Given the description of an element on the screen output the (x, y) to click on. 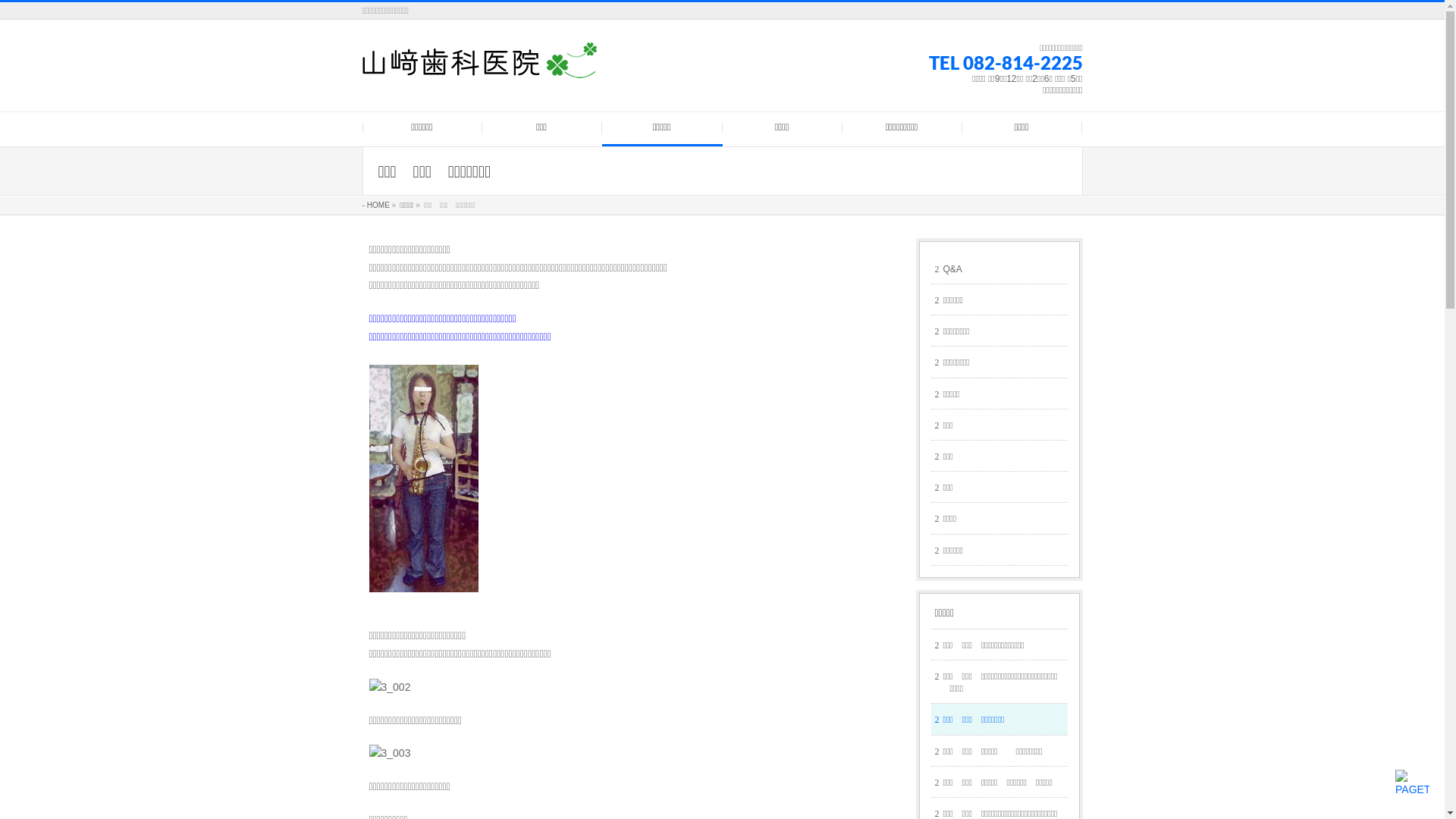
HOME Element type: text (375, 204)
Q&A Element type: text (999, 268)
